Given the description of an element on the screen output the (x, y) to click on. 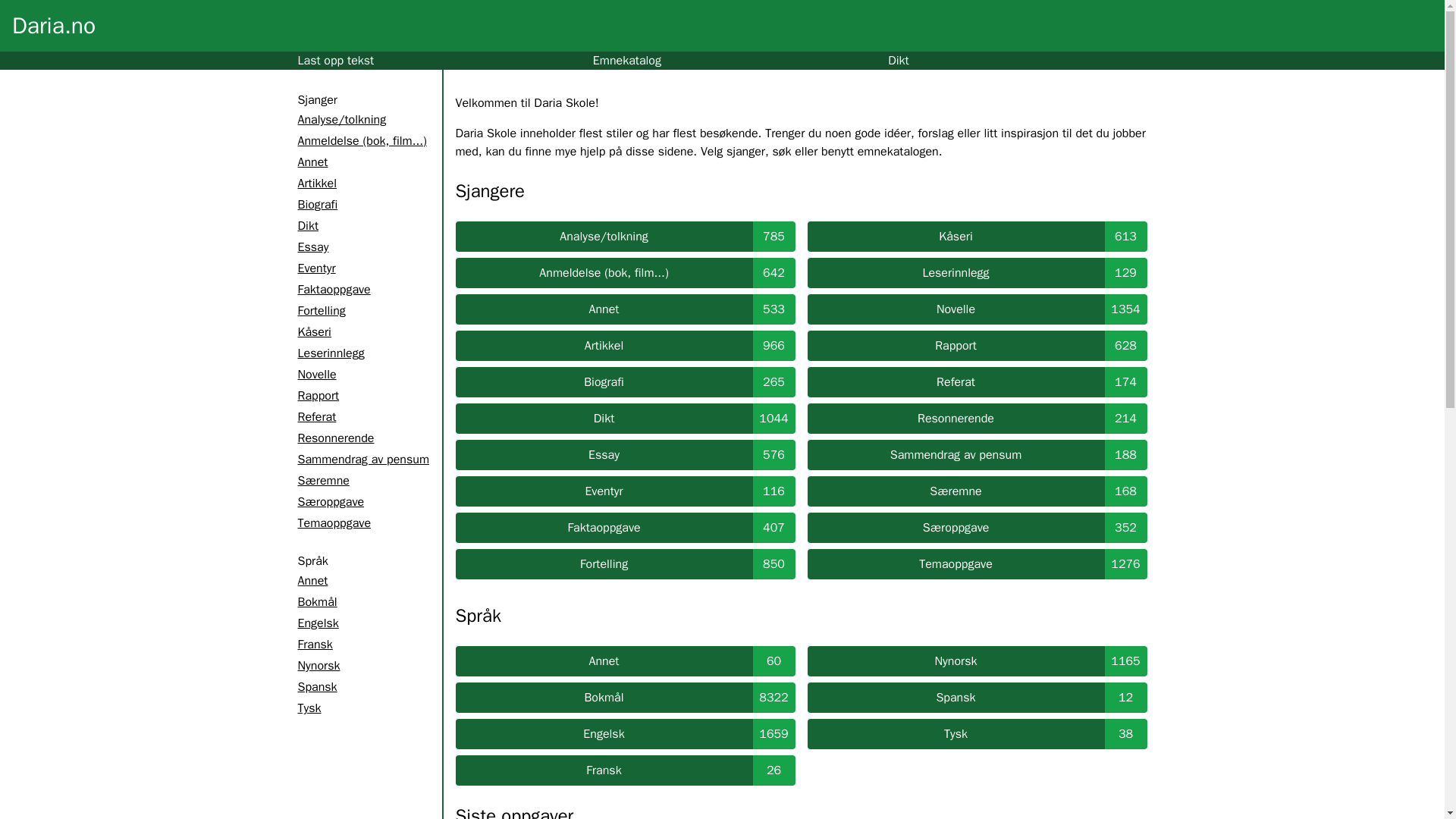
Dikt (307, 225)
Daria.no (53, 25)
Last opp tekst (335, 60)
Emnekatalog (626, 60)
Eventyr (315, 268)
Artikkel (316, 183)
Dikt (898, 60)
Annet (312, 161)
Biografi (317, 204)
Essay (313, 246)
